Given the description of an element on the screen output the (x, y) to click on. 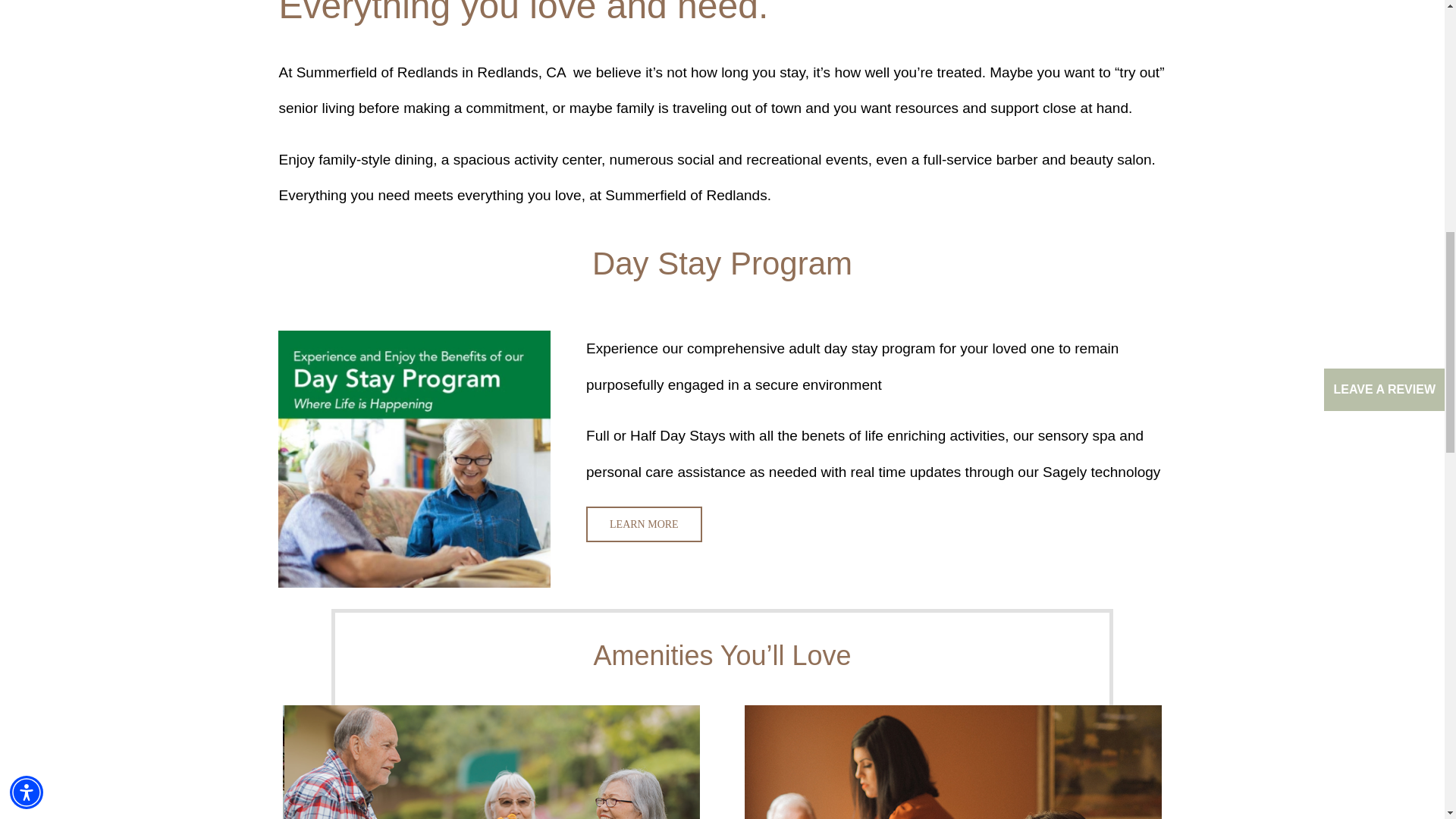
DayStayImage (414, 459)
amenities-youll-love (491, 762)
amenities-youll-love-2 (952, 762)
